Given the description of an element on the screen output the (x, y) to click on. 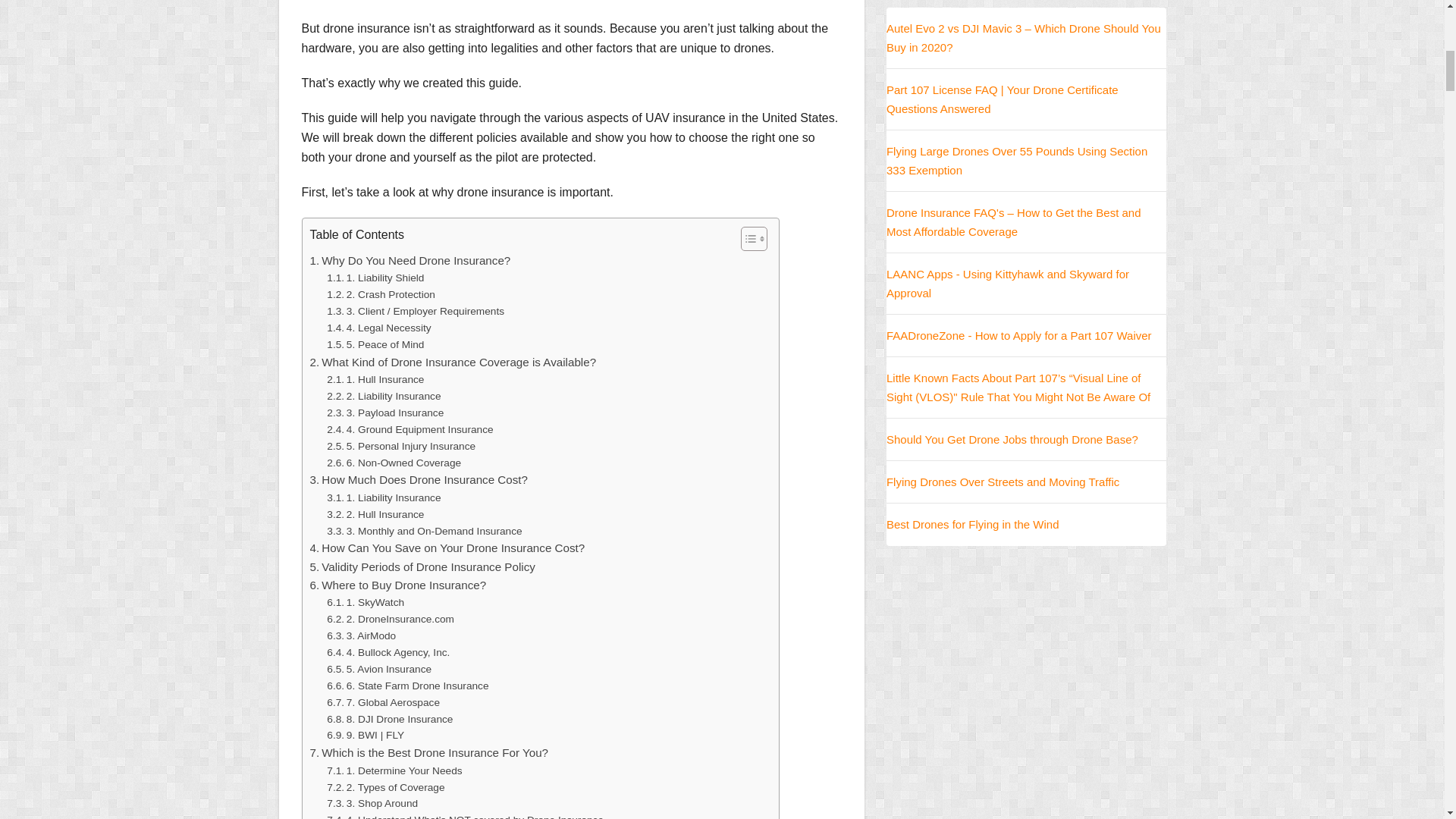
2. Crash Protection (380, 294)
2. Hull Insurance (374, 514)
1. Hull Insurance (374, 379)
5. Peace of Mind (374, 344)
How Can You Save on Your Drone Insurance Cost? (446, 547)
How Much Does Drone Insurance Cost? (417, 479)
Validity Periods of Drone Insurance Policy (421, 566)
4. Ground Equipment Insurance (409, 429)
2. Liability Insurance (383, 396)
4. Legal Necessity (378, 328)
